Given the description of an element on the screen output the (x, y) to click on. 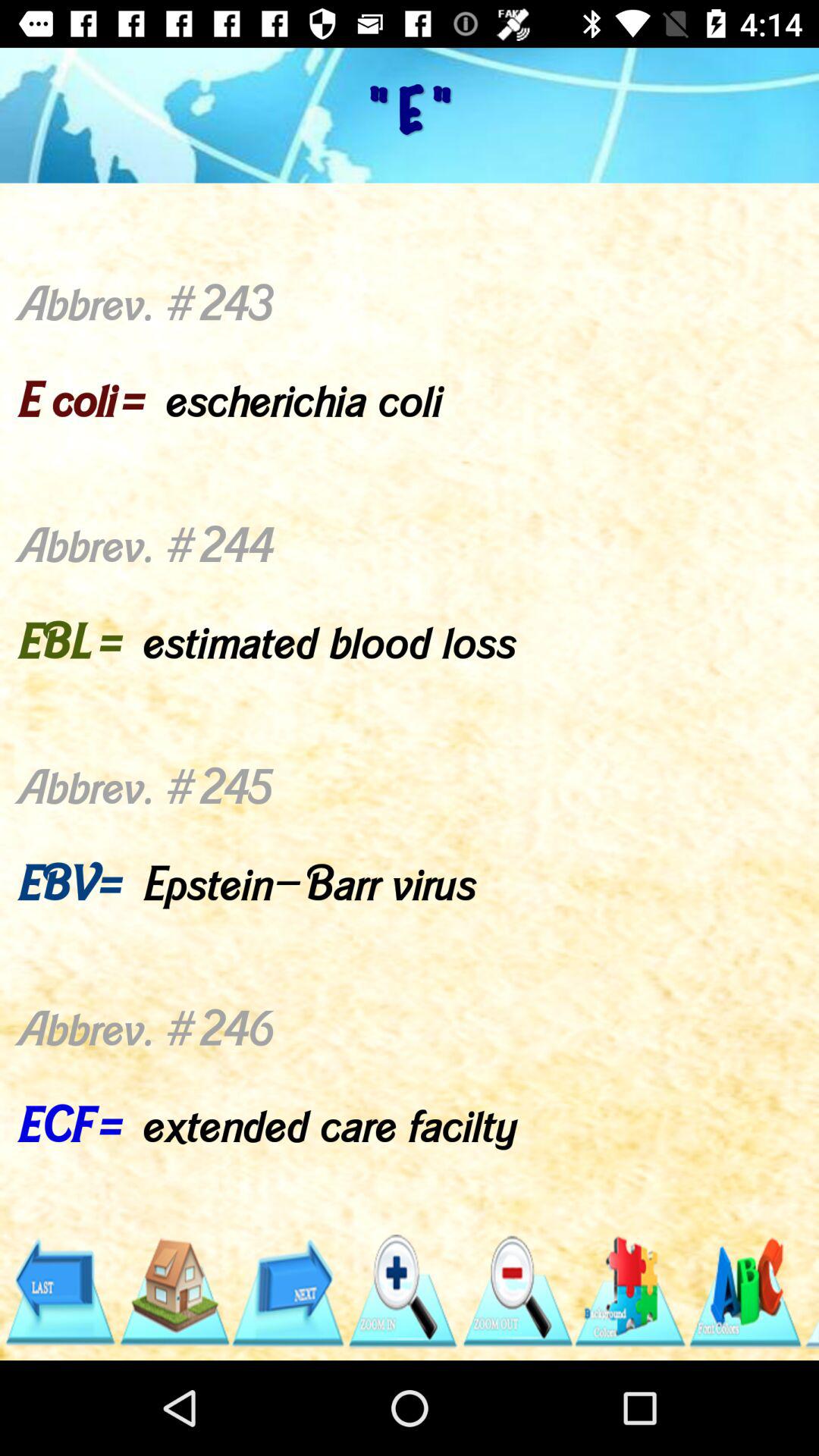
go to next (287, 1291)
